Given the description of an element on the screen output the (x, y) to click on. 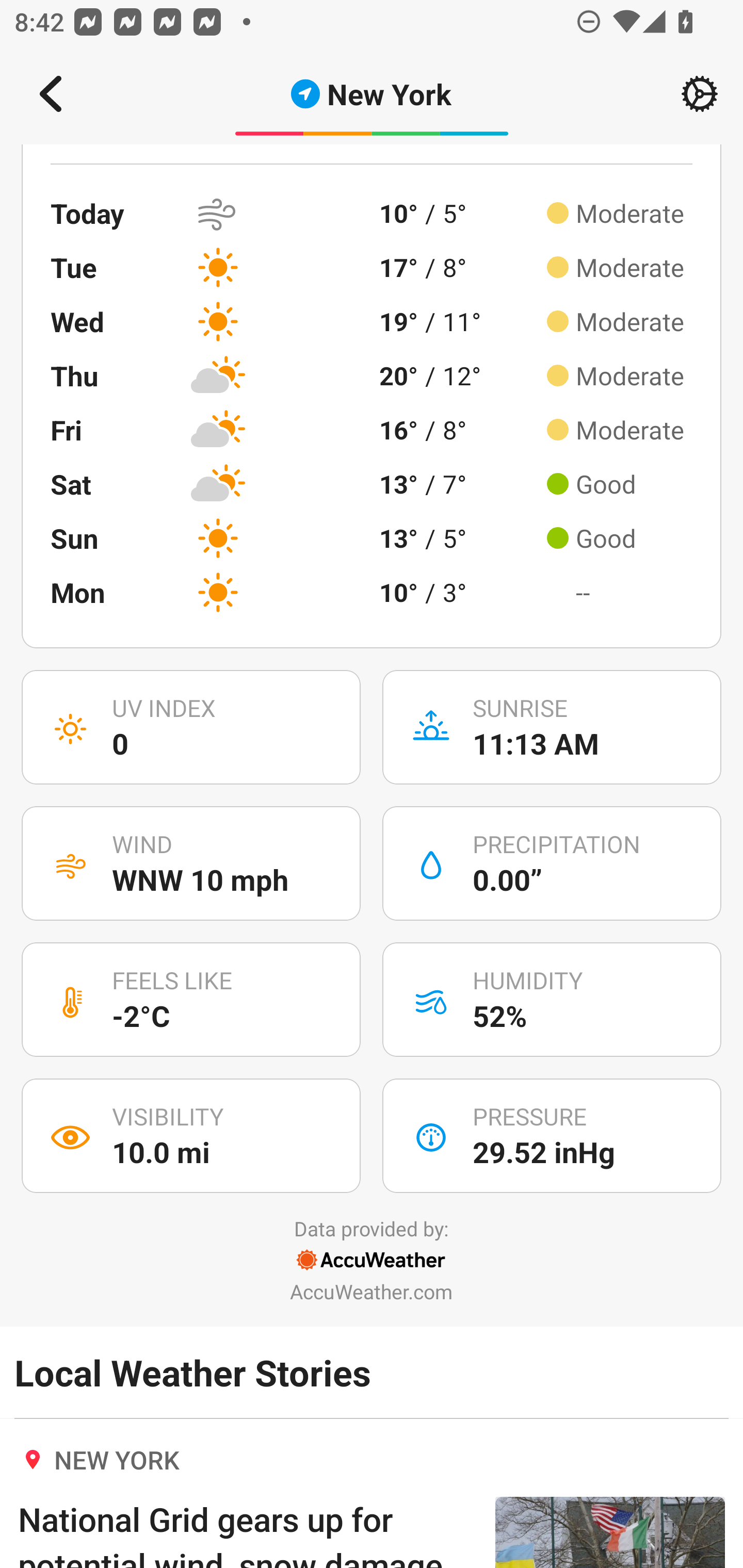
Navigate up (50, 93)
Setting (699, 93)
